Given the description of an element on the screen output the (x, y) to click on. 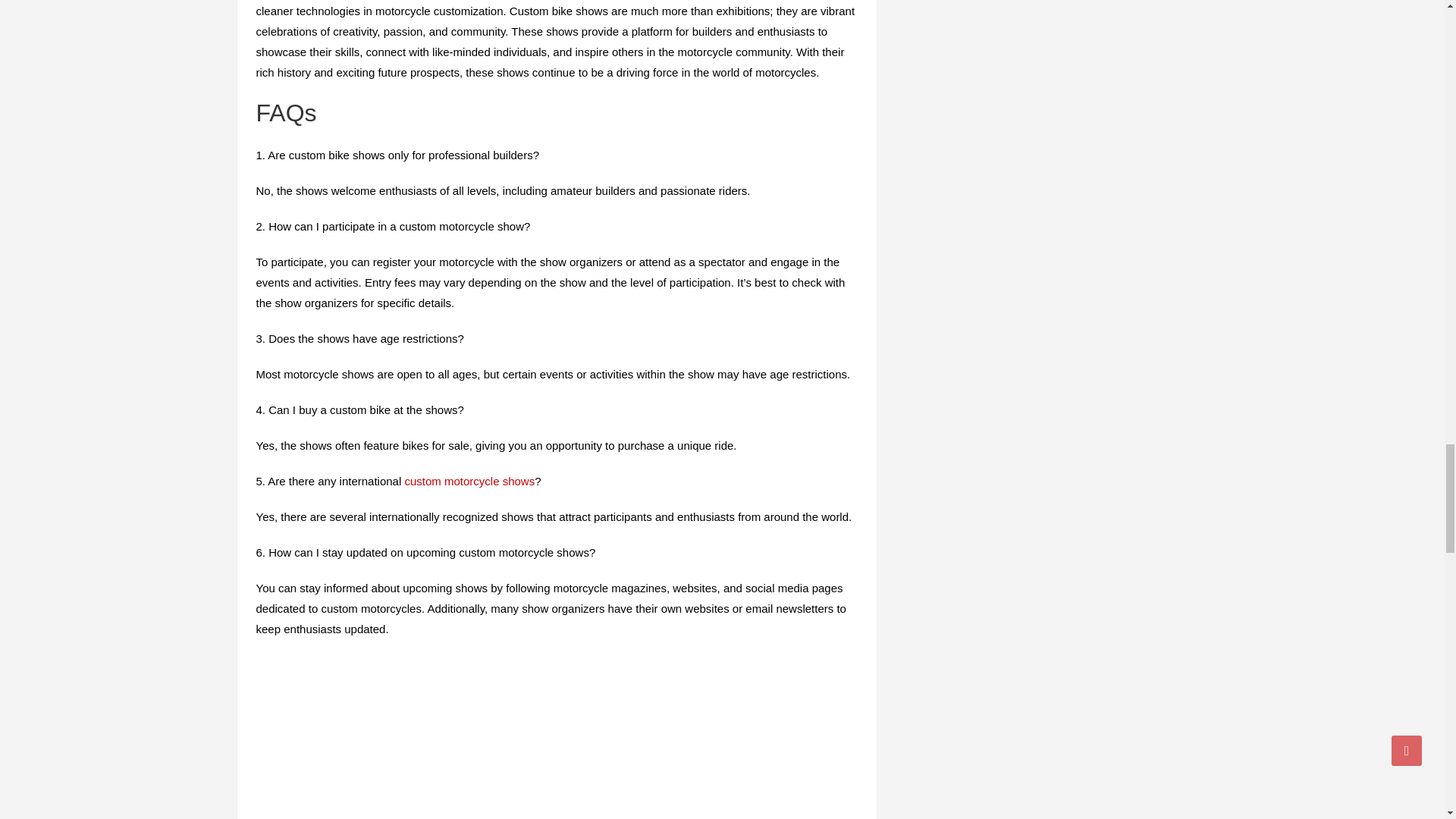
custom motorcycle shows (469, 481)
